Given the description of an element on the screen output the (x, y) to click on. 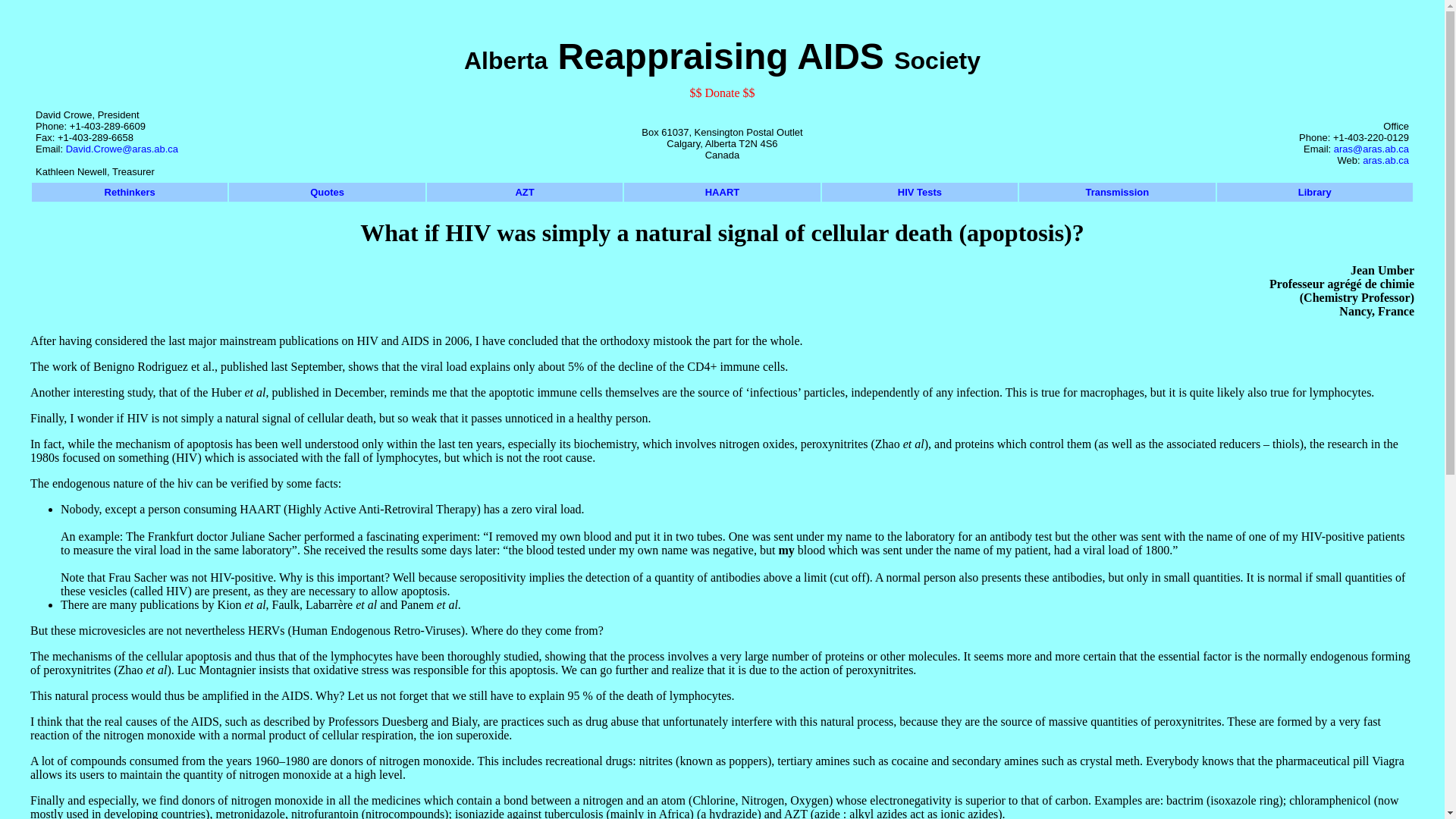
$$ Donate $$ Element type: text (721, 92)
Rethinkers Element type: text (129, 191)
AZT Element type: text (523, 191)
HIV Tests Element type: text (919, 191)
HIV Tests Element type: text (919, 191)
Library Element type: text (1314, 191)
Library Element type: text (1314, 191)
HAART Element type: text (721, 191)
Transmission Element type: text (1116, 191)
aras.ab.ca Element type: text (1385, 160)
Quotes Element type: text (327, 191)
aras@aras.ab.ca Element type: text (1370, 148)
Transmission Element type: text (1116, 191)
AZT Element type: text (524, 191)
David.Crowe@aras.ab.ca Element type: text (136, 154)
HAART Element type: text (722, 191)
Quotes Element type: text (326, 191)
Rethinkers Element type: text (129, 191)
